Given the description of an element on the screen output the (x, y) to click on. 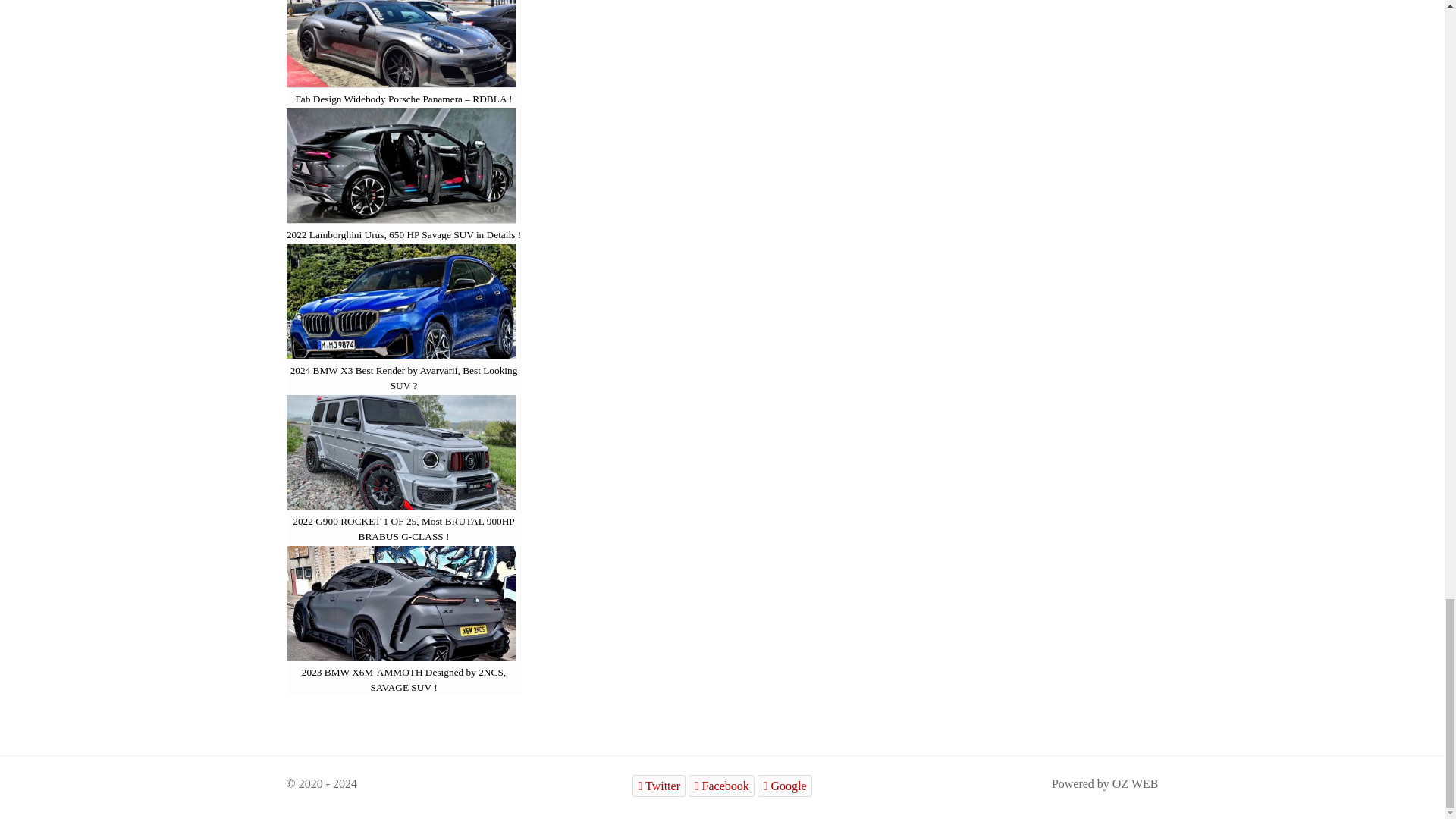
2023 BMW X6M-AMMOTH Designed by 2NCS, SAVAGE SUV ! (403, 680)
Facebook (721, 785)
Twitter (658, 785)
2022 G900 ROCKET 1 OF 25, Most BRUTAL 900HP BRABUS G-CLASS ! (403, 529)
2022 Lamborghini Urus, 650 HP Savage SUV in Details ! (403, 234)
Twitter (658, 785)
2024 BMW X3 Best Render by Avarvarii, Best Looking SUV ? (403, 378)
Google (784, 785)
Facebook (721, 785)
Google (784, 785)
